Given the description of an element on the screen output the (x, y) to click on. 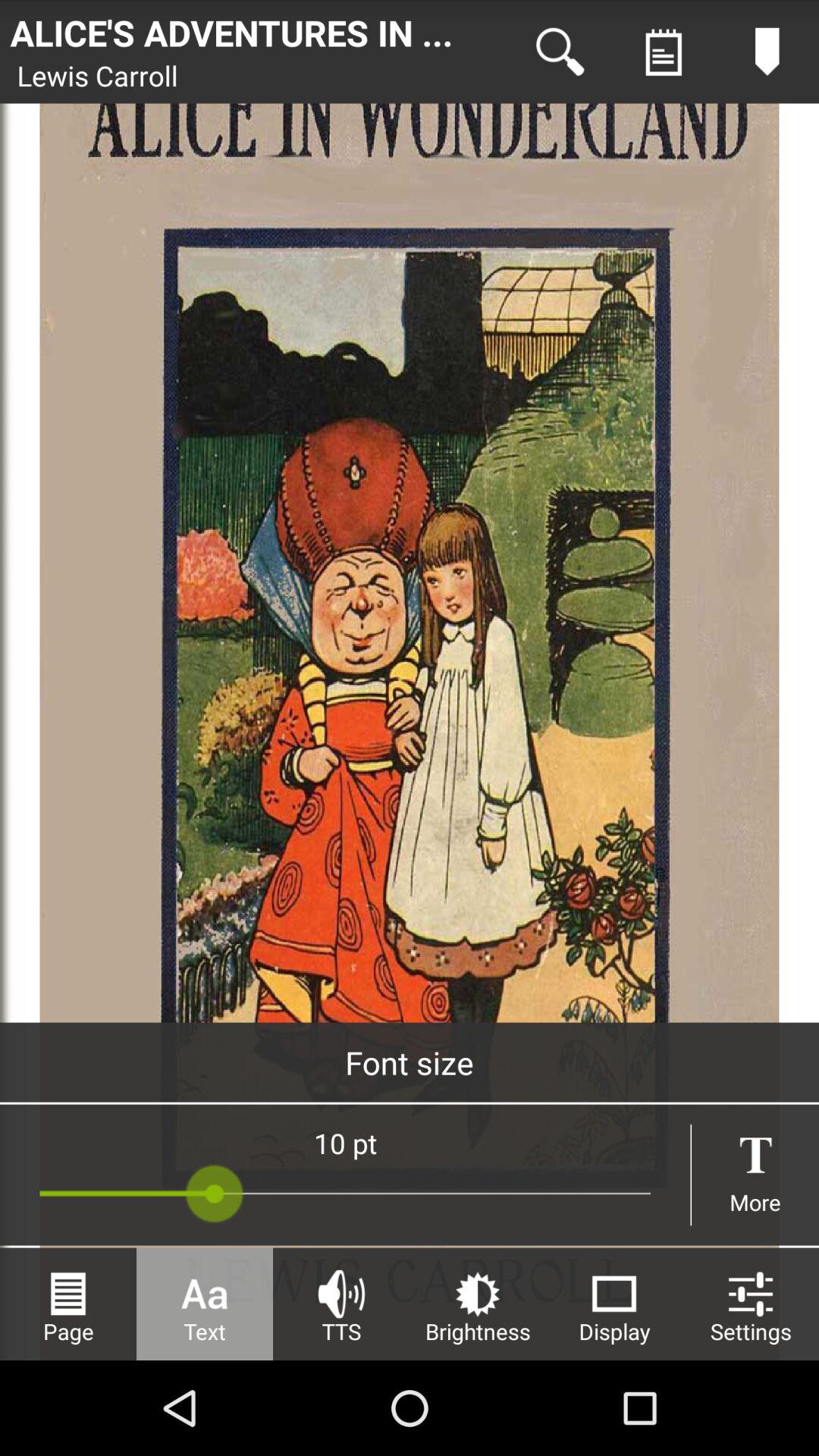
go to notepad option (663, 51)
